Given the description of an element on the screen output the (x, y) to click on. 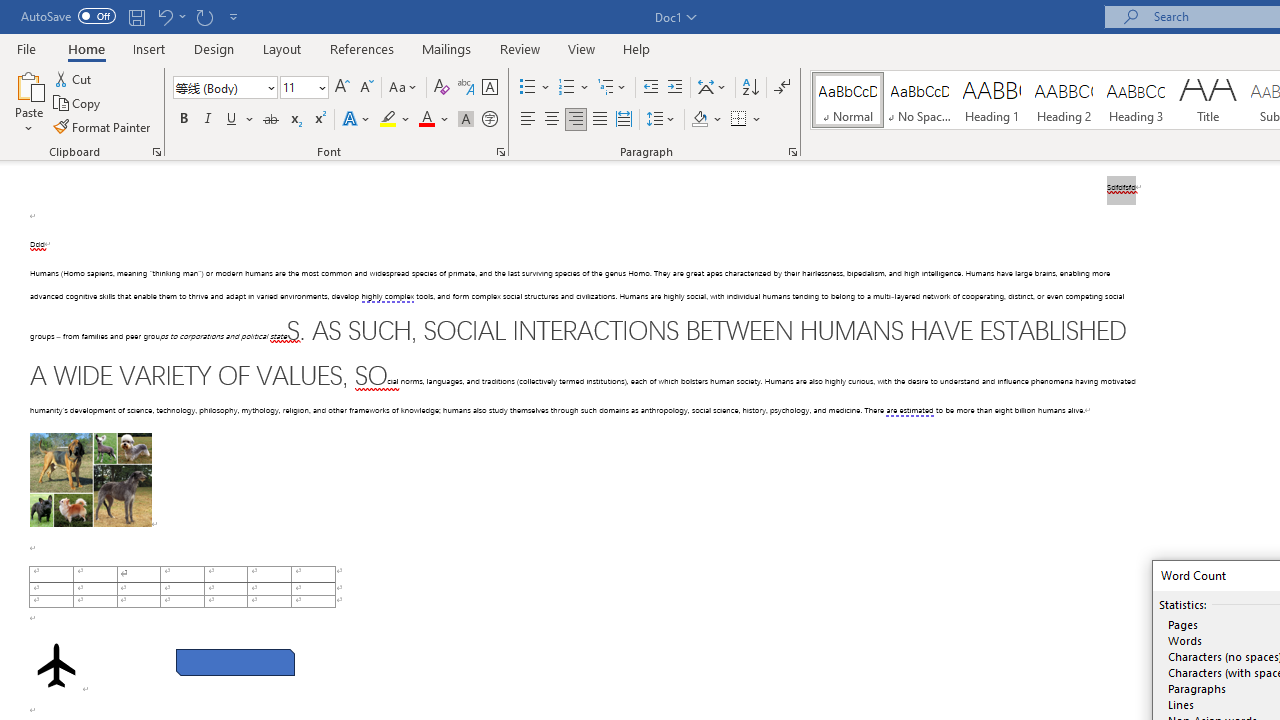
Heading 2 (1063, 100)
